Given the description of an element on the screen output the (x, y) to click on. 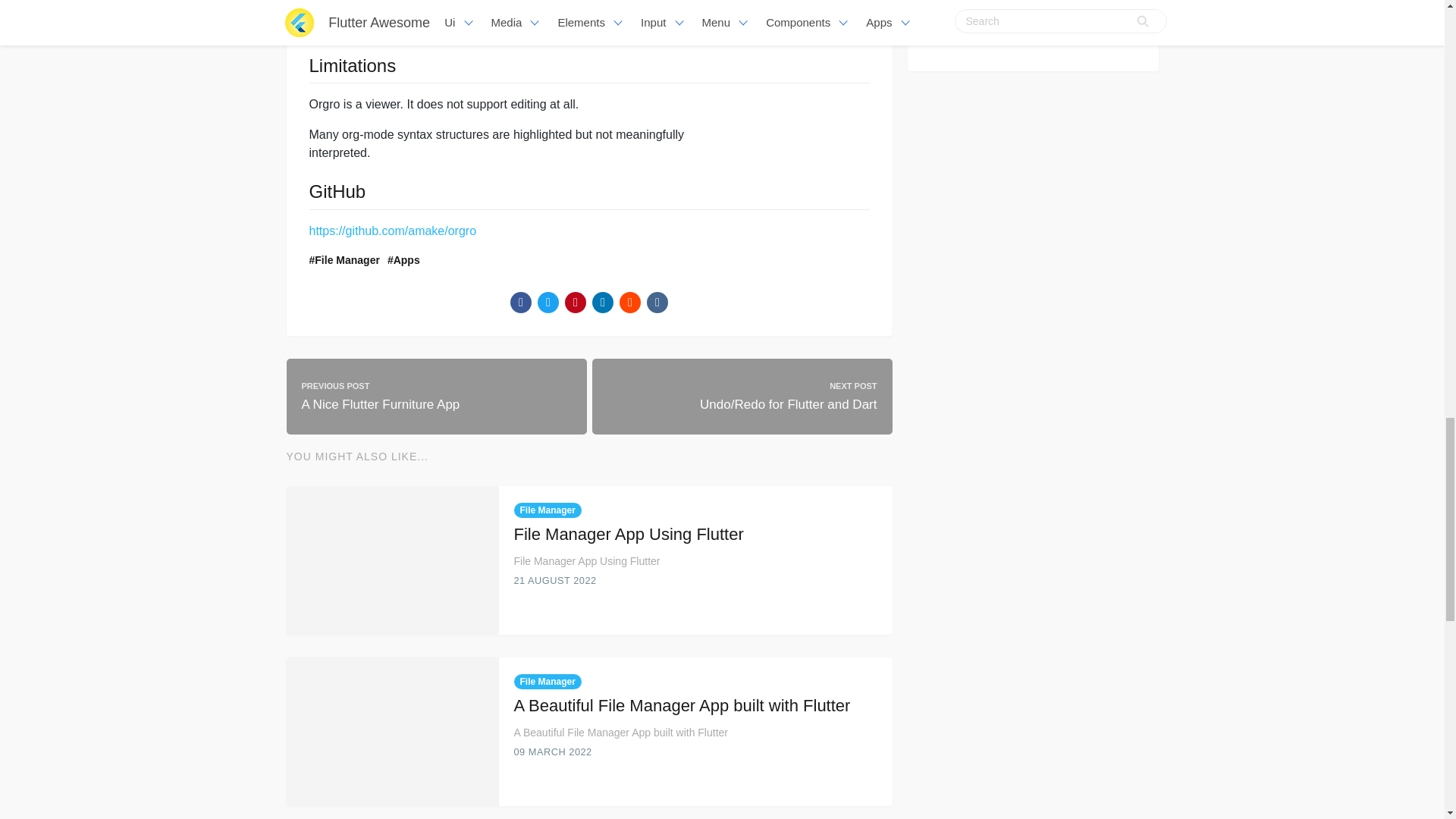
File Manager (344, 259)
Apps (403, 259)
